Given the description of an element on the screen output the (x, y) to click on. 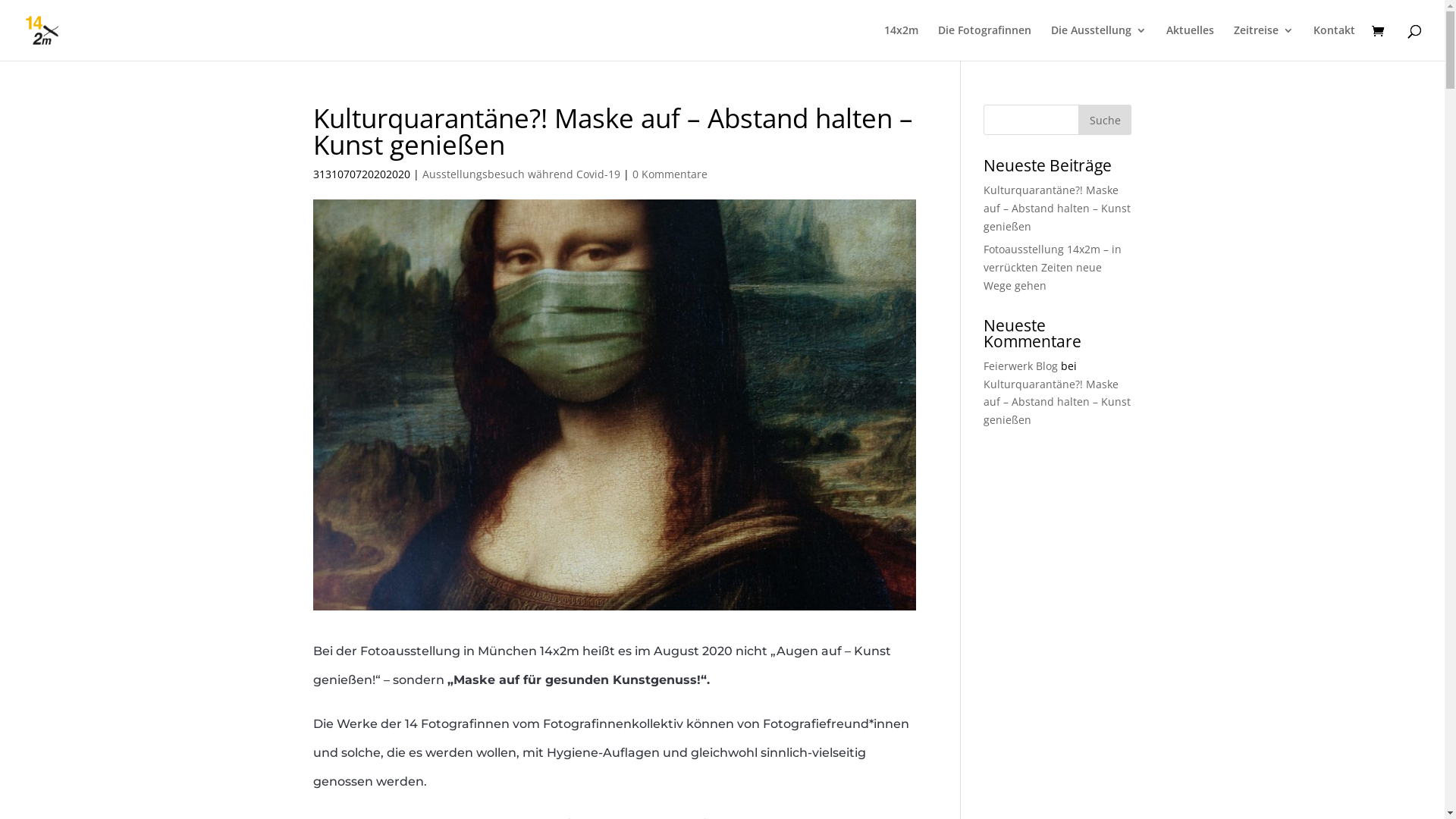
Feierwerk Blog Element type: text (1020, 365)
0 Kommentare Element type: text (669, 173)
Zeitreise Element type: text (1263, 42)
Kontakt Element type: text (1334, 42)
Suche Element type: text (1104, 119)
Aktuelles Element type: text (1190, 42)
Die Ausstellung Element type: text (1098, 42)
Die Fotografinnen Element type: text (984, 42)
14x2m Element type: text (901, 42)
